Given the description of an element on the screen output the (x, y) to click on. 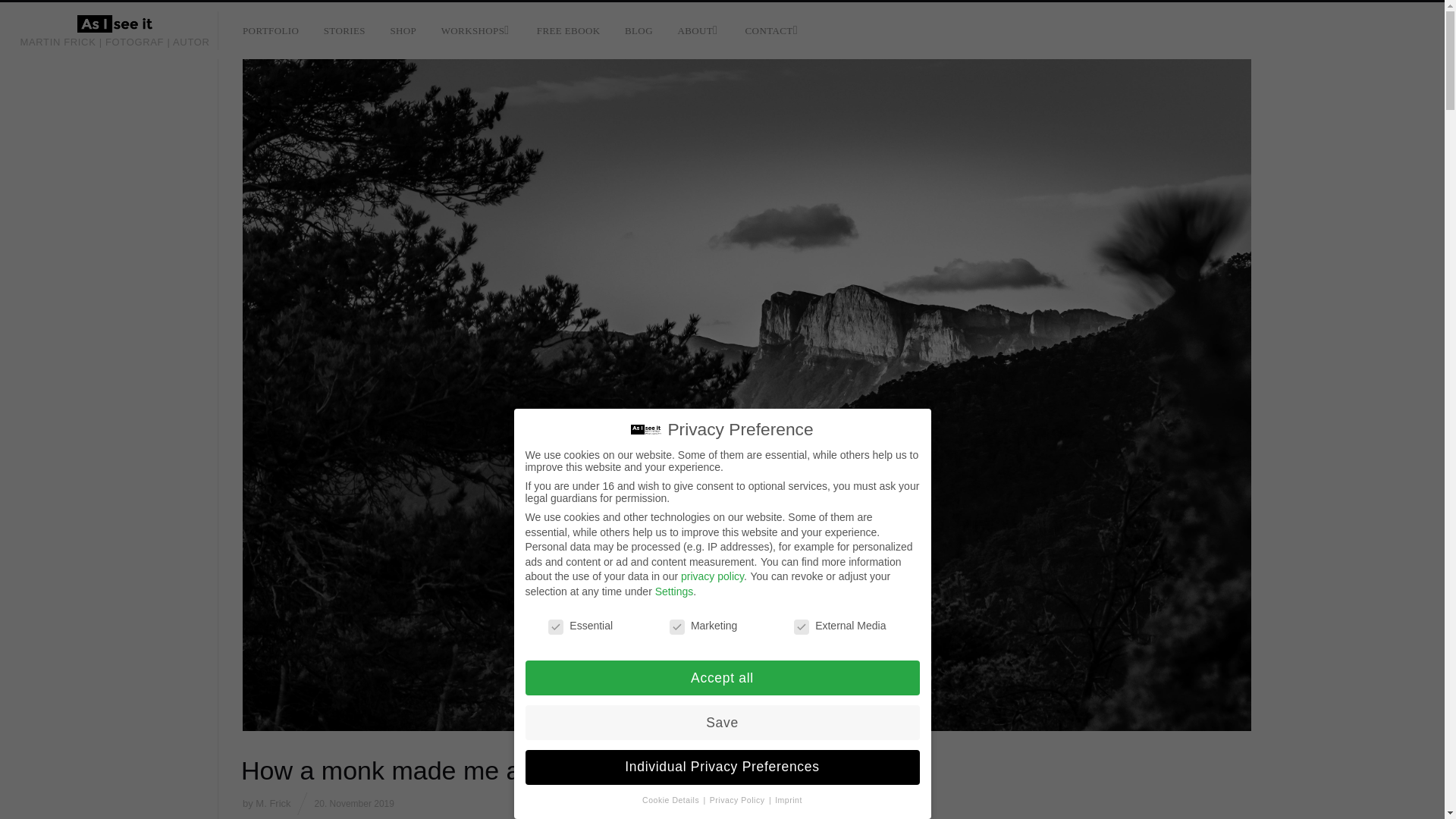
FREE EBOOK (568, 30)
ABOUT (698, 30)
View all posts by M. Frick (272, 803)
M. Frick (272, 803)
BLOG (639, 30)
WORKSHOPS (476, 30)
PORTFOLIO (269, 30)
STORIES (343, 30)
Martin Frick Fotograf (114, 23)
CONTACT (773, 30)
SHOP (402, 30)
